Given the description of an element on the screen output the (x, y) to click on. 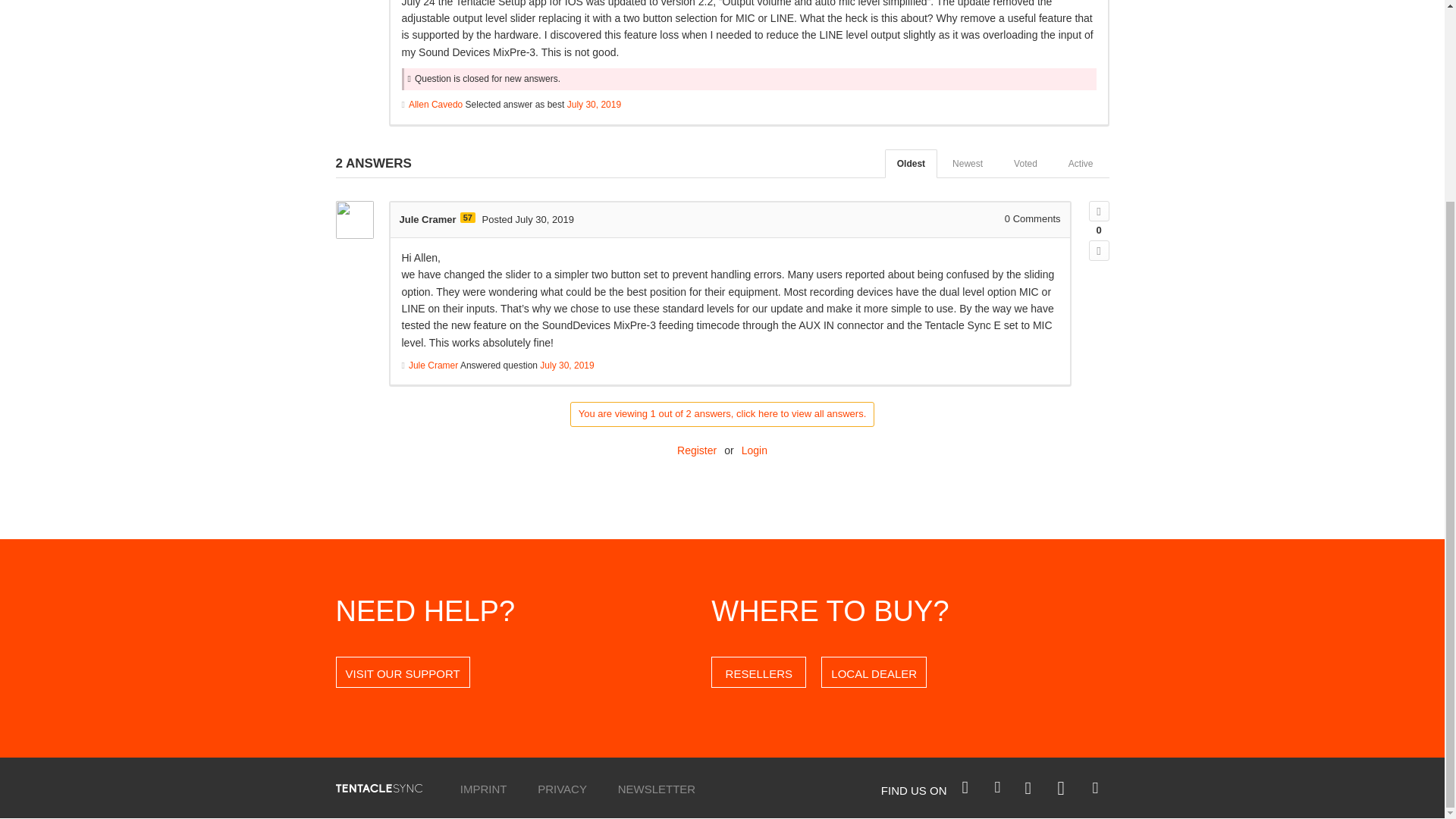
Voted (1025, 164)
Reputation (468, 217)
RESELLERS (758, 671)
Login (754, 450)
Up vote this post (1099, 210)
Jule Cramer (433, 365)
57 (468, 217)
Down vote this post (1099, 250)
Jule Cramer (426, 219)
